Given the description of an element on the screen output the (x, y) to click on. 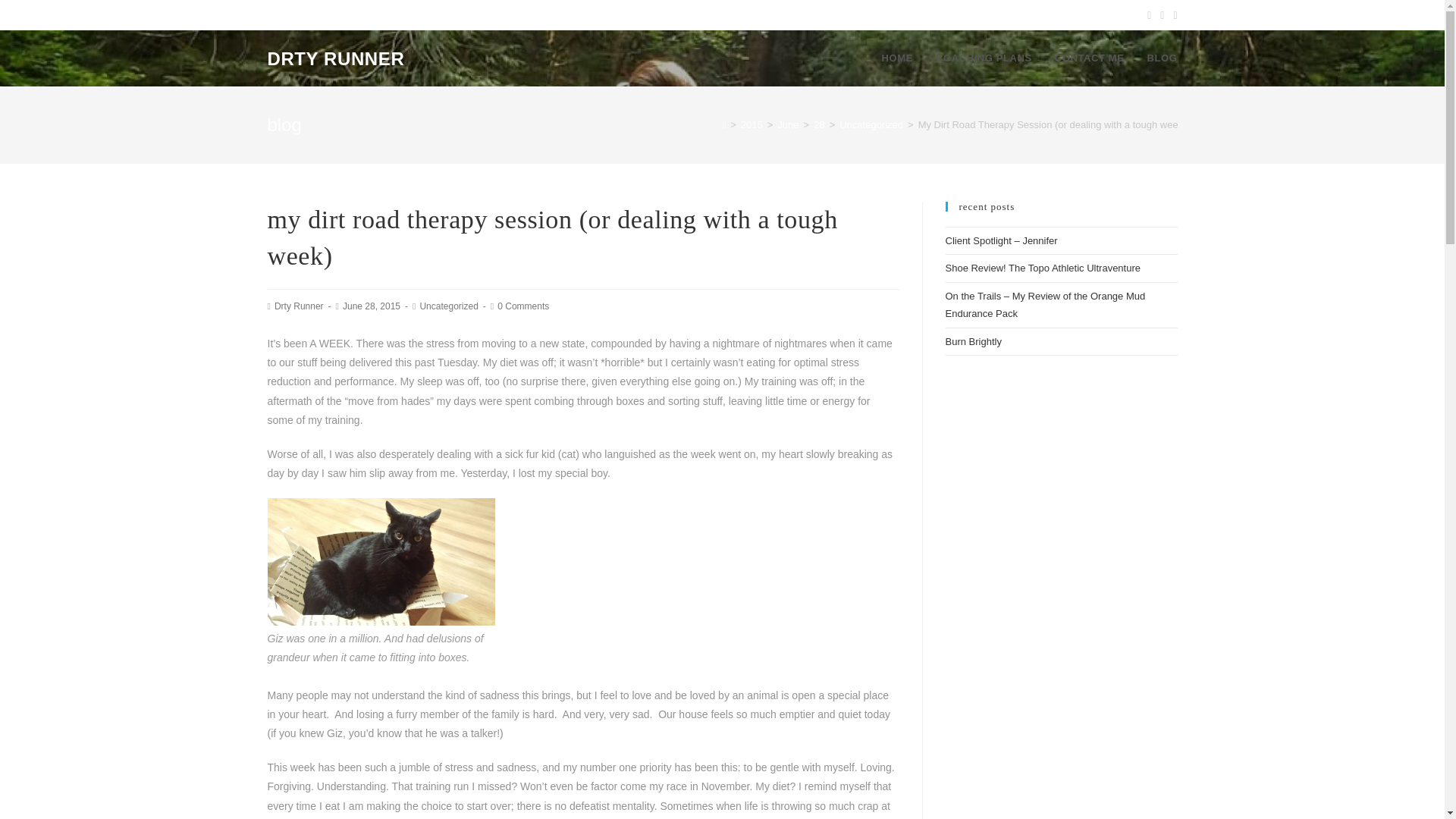
CONTACT ME (1089, 58)
0 Comments (522, 306)
June (787, 124)
BLOG (1162, 58)
Instagram (1172, 14)
Uncategorized (871, 124)
Uncategorized (448, 306)
HOME (897, 58)
CONTACT ME (1089, 58)
Facebook (1162, 14)
28 (818, 124)
COACHING PLANS (983, 58)
Posts by Drty Runner (299, 306)
